Given the description of an element on the screen output the (x, y) to click on. 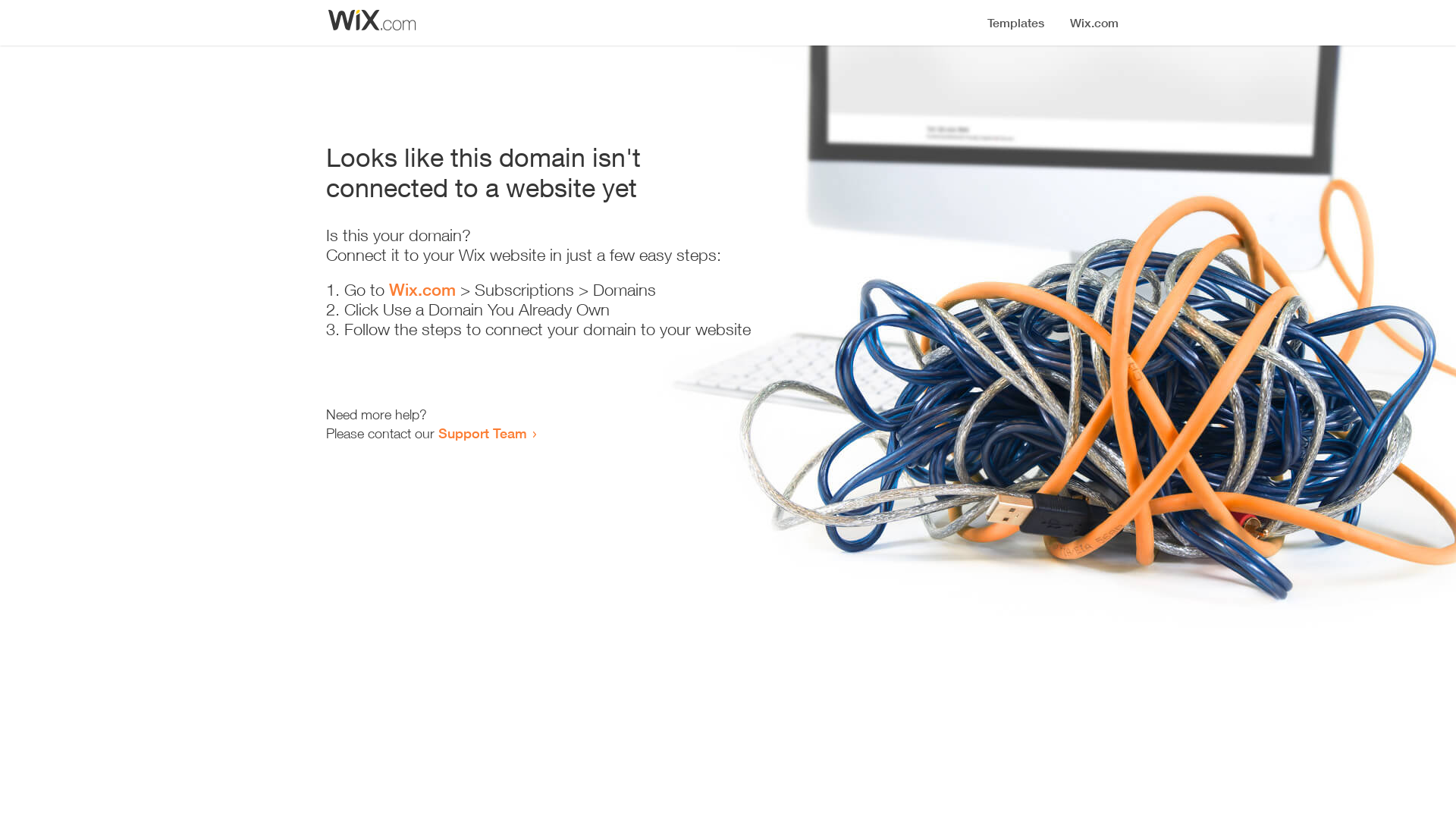
Support Team Element type: text (482, 432)
Wix.com Element type: text (422, 289)
